Given the description of an element on the screen output the (x, y) to click on. 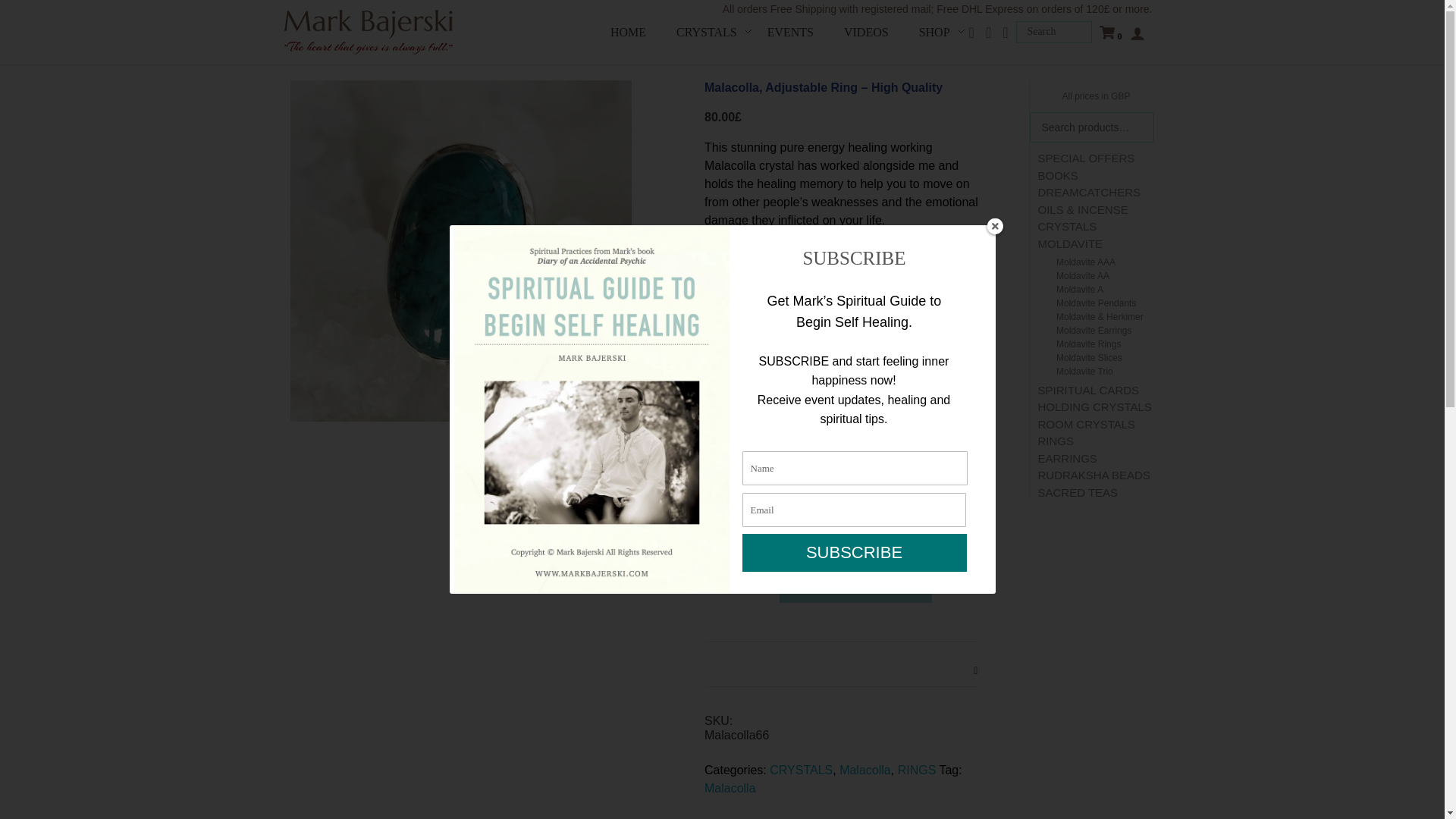
ADD TO CART (854, 585)
SHOP (934, 32)
0 (1107, 32)
CRYSTALS (706, 32)
EVENTS (790, 32)
Mark Bajerski - Pure Energy Healing Academy (370, 54)
HOME (628, 32)
VIDEOS (866, 32)
Malacolla66 (459, 250)
